Given the description of an element on the screen output the (x, y) to click on. 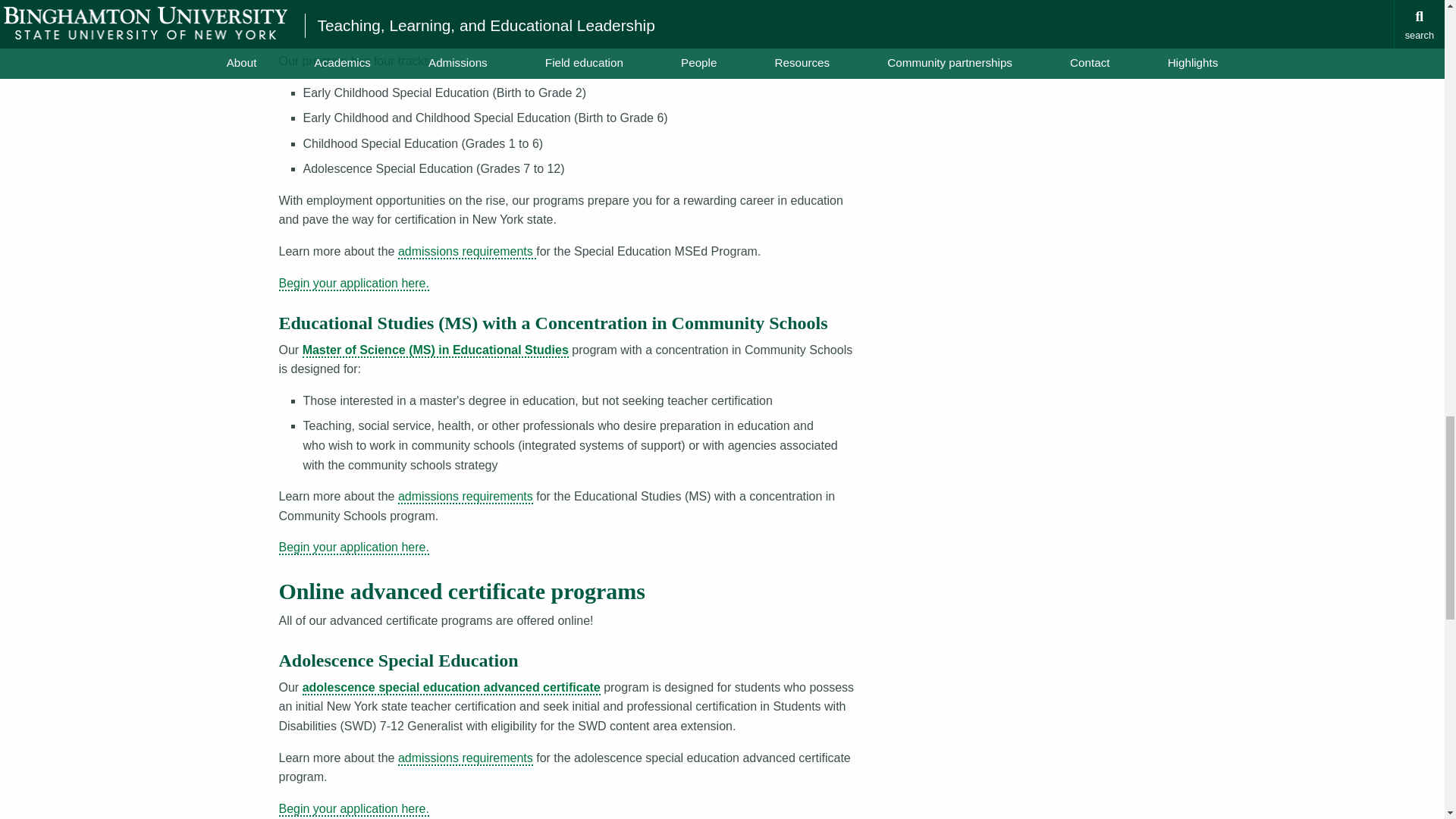
Begin your application here. (354, 283)
Begin your application here. (354, 547)
admissions requirements (464, 496)
admissions requirements (466, 251)
